Given the description of an element on the screen output the (x, y) to click on. 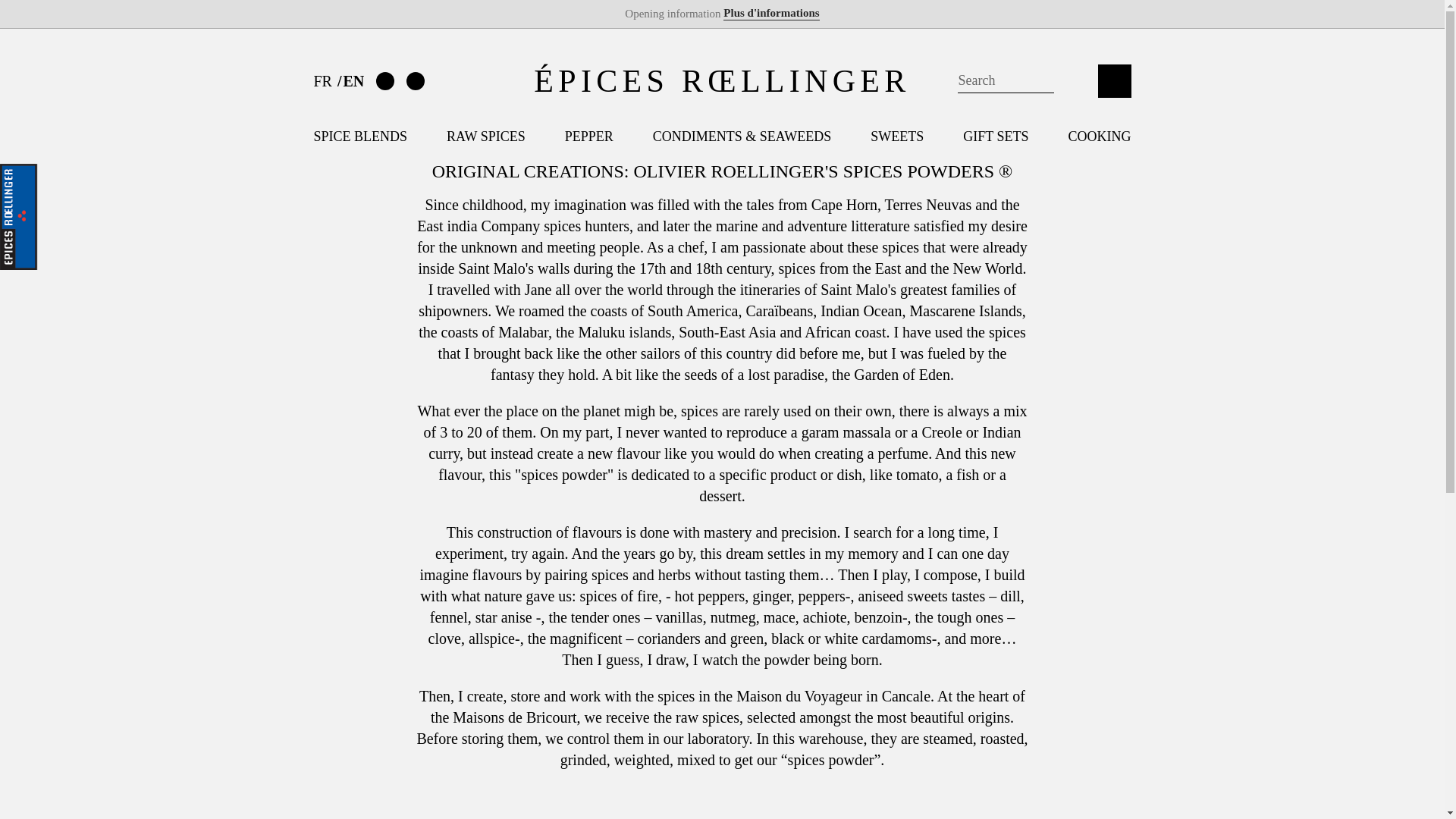
Instagram (415, 81)
COOKING (1099, 136)
SPICE BLENDS (360, 136)
PEPPER (588, 136)
RAW SPICES (485, 136)
SWEETS (896, 136)
FR (325, 80)
Facebook (384, 81)
Plus d'informations (770, 12)
GIFT SETS (994, 136)
